Given the description of an element on the screen output the (x, y) to click on. 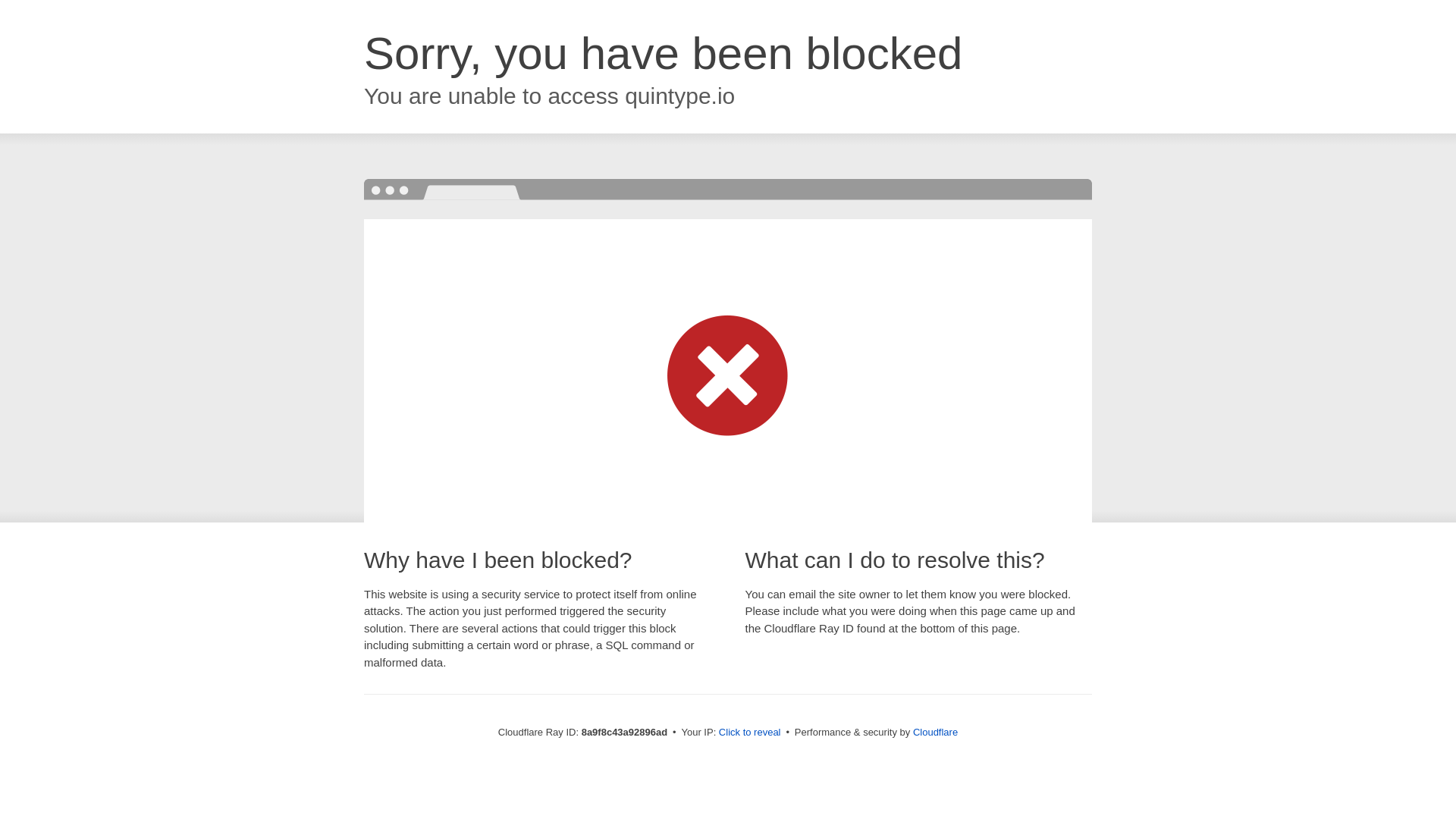
Click to reveal (749, 732)
Cloudflare (935, 731)
